Given the description of an element on the screen output the (x, y) to click on. 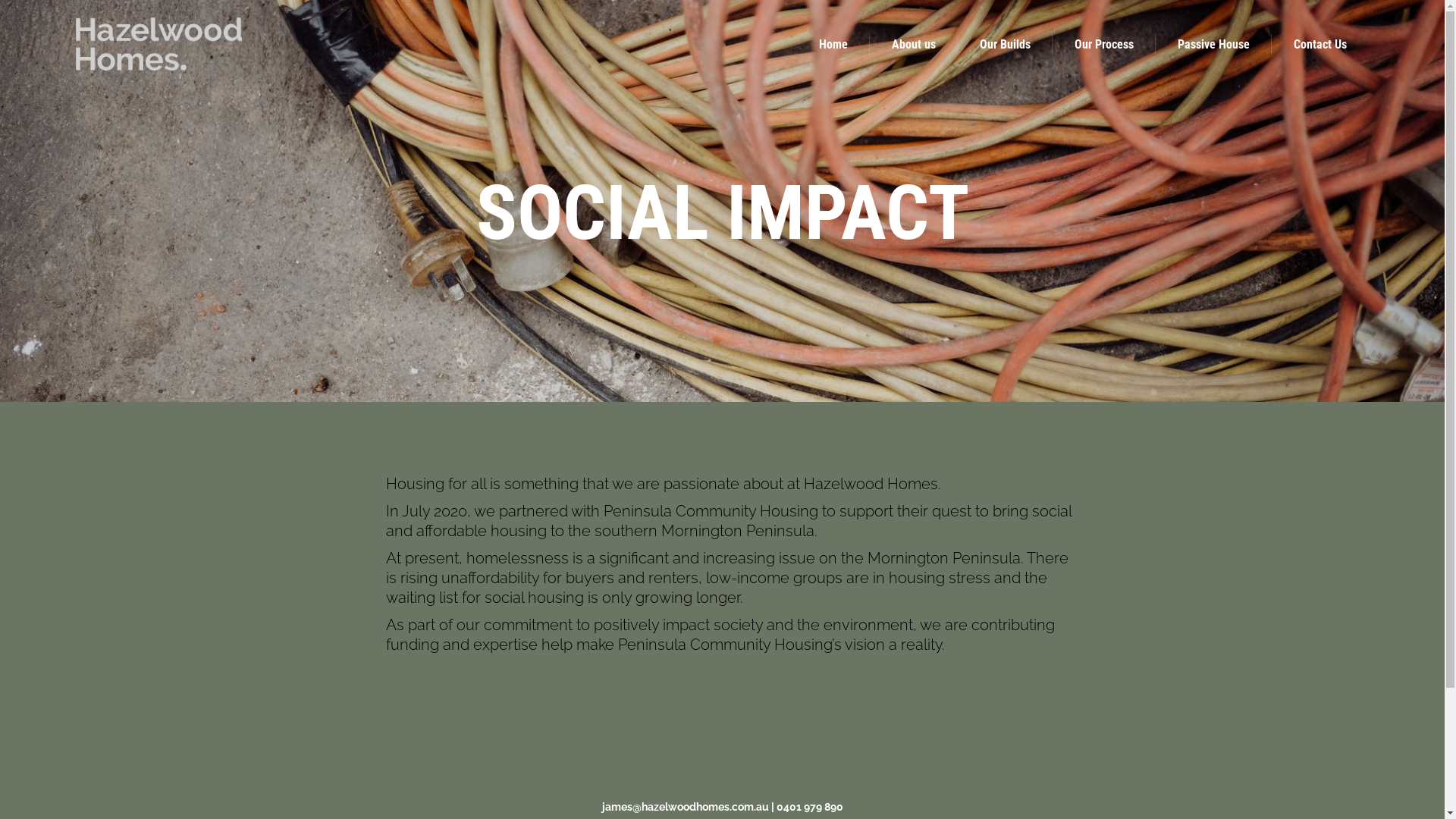
Contact Us Element type: text (1319, 43)
About us Element type: text (913, 43)
Passive House Element type: text (1213, 43)
Our Builds Element type: text (1004, 43)
Home Element type: text (833, 43)
Our Process Element type: text (1103, 43)
